Given the description of an element on the screen output the (x, y) to click on. 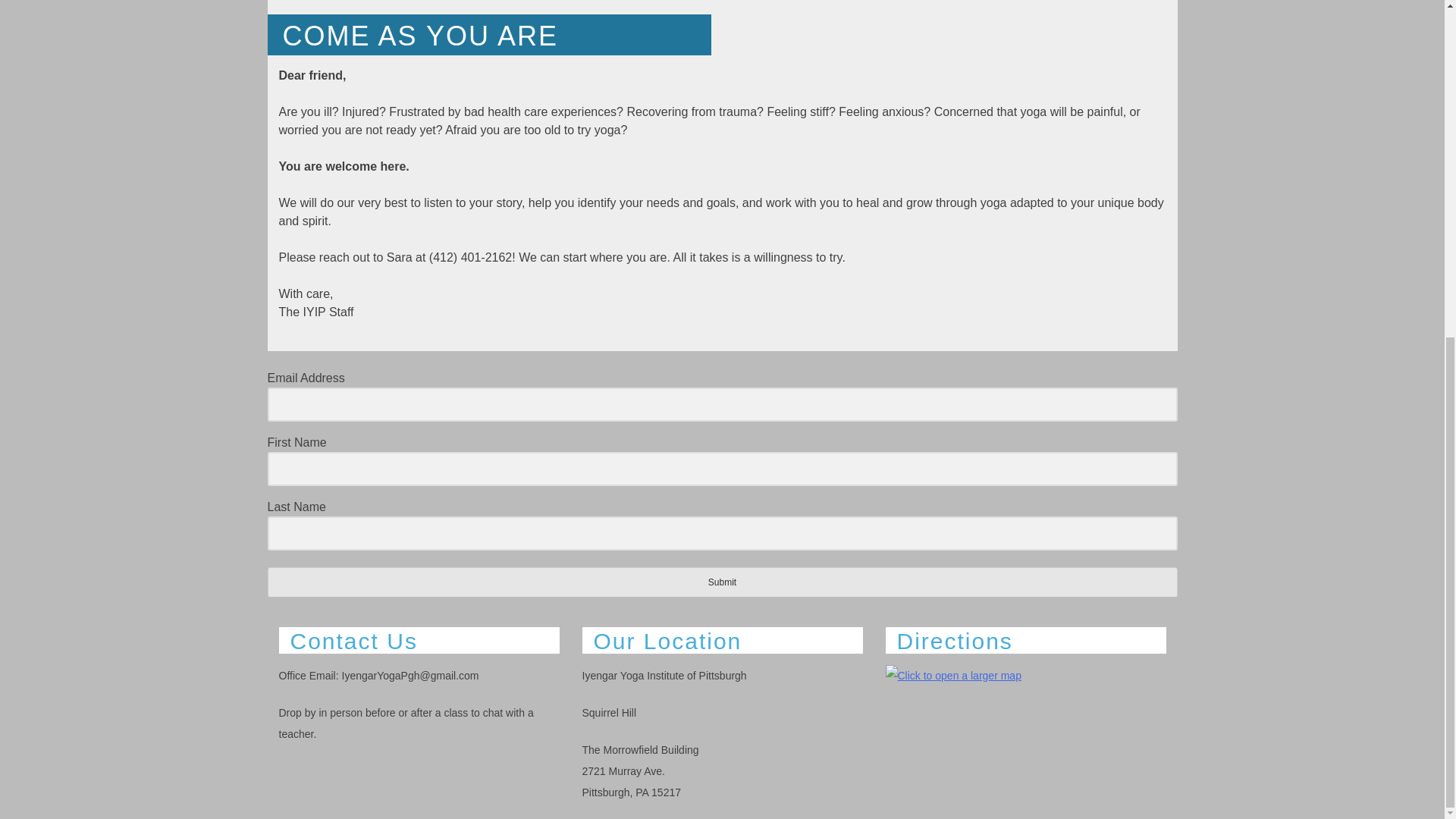
Submit (721, 582)
Click to open a larger map (953, 674)
